Given the description of an element on the screen output the (x, y) to click on. 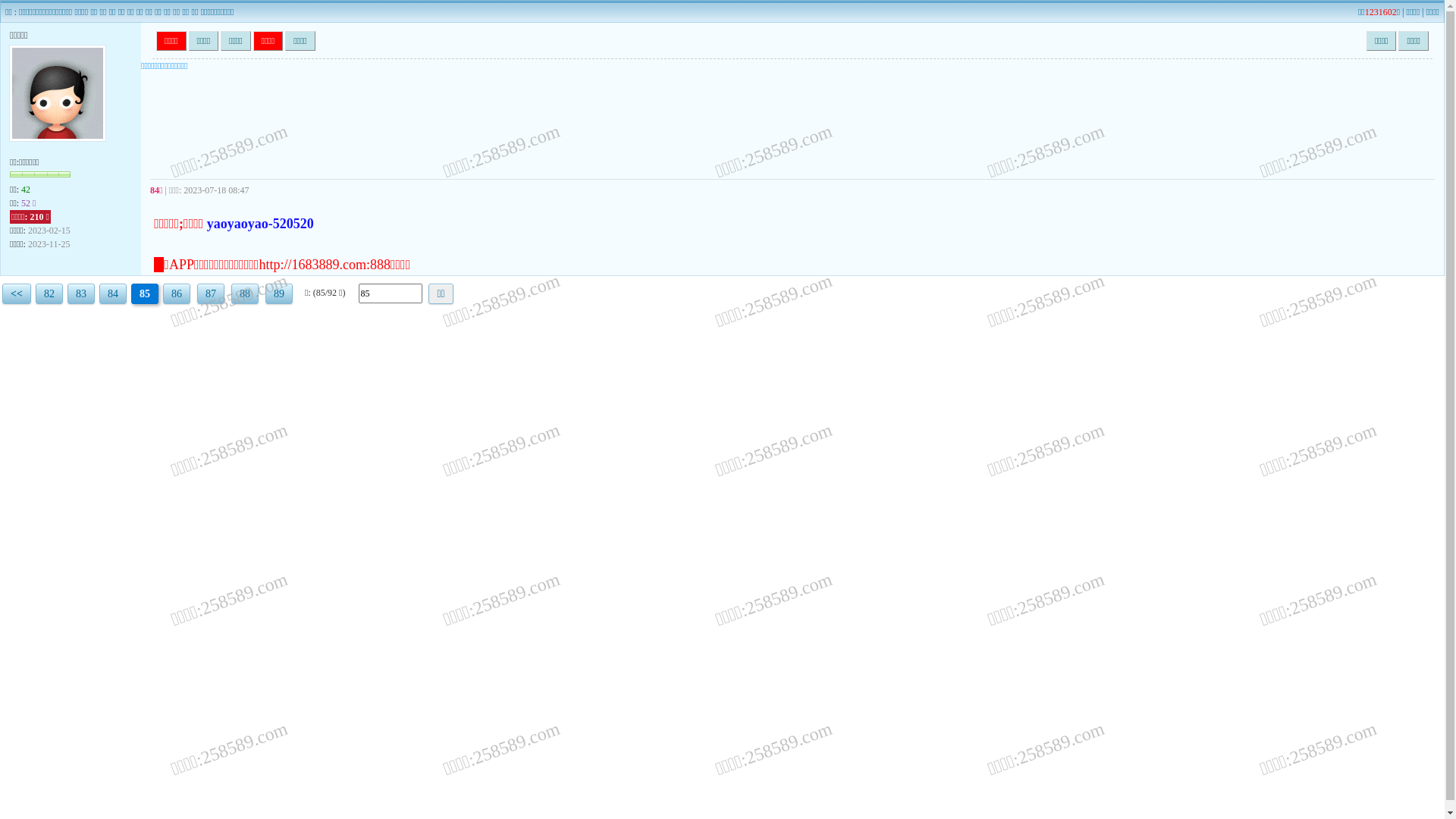
88 Element type: text (244, 293)
89 Element type: text (278, 293)
82 Element type: text (48, 293)
<< Element type: text (16, 293)
83 Element type: text (80, 293)
84 Element type: text (112, 293)
86 Element type: text (176, 293)
87 Element type: text (210, 293)
